Given the description of an element on the screen output the (x, y) to click on. 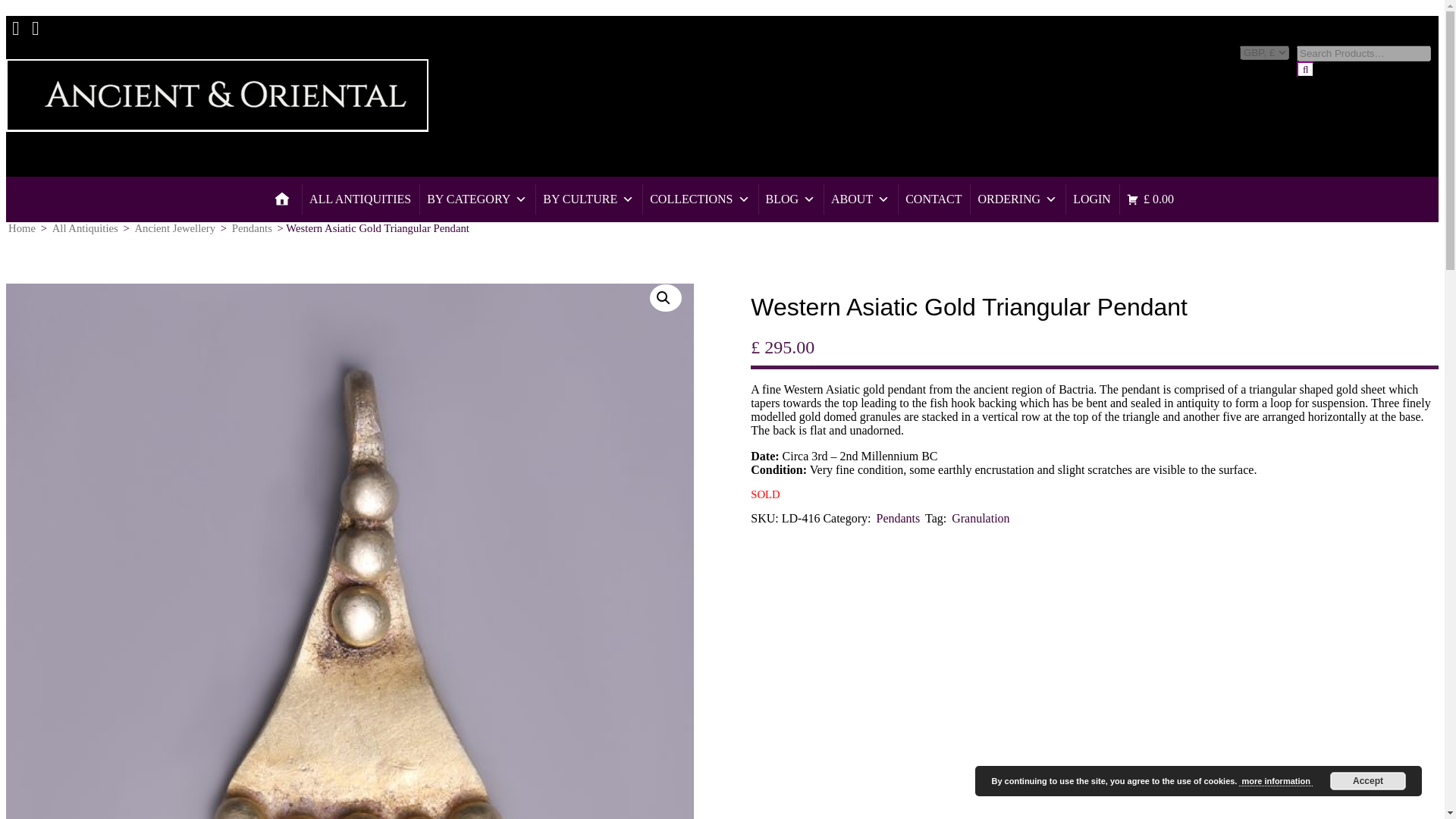
ALL ANTIQUITIES (360, 199)
facebook (15, 21)
BY CATEGORY (476, 199)
fa fa-home (282, 199)
instagram (35, 21)
